Given the description of an element on the screen output the (x, y) to click on. 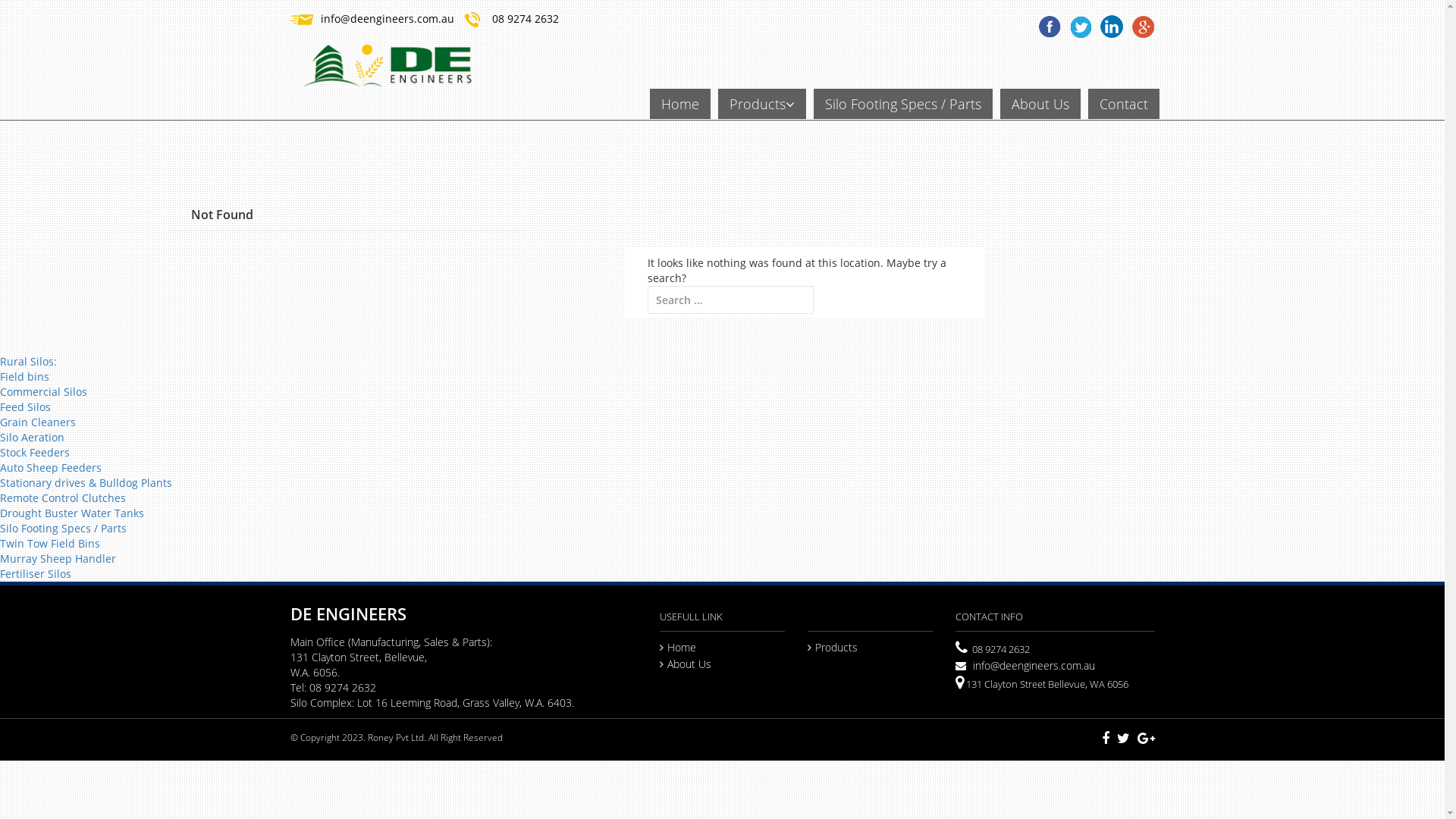
Drought Buster Water Tanks Element type: text (72, 512)
Silo Footing Specs / Parts Element type: text (63, 527)
Home Element type: text (679, 103)
Murray Sheep Handler Element type: text (58, 558)
Rural Silos: Element type: text (28, 361)
Commercial Silos Element type: text (43, 391)
Home Element type: text (677, 647)
info@deengineers.com.au Element type: text (1025, 665)
Contact Element type: text (1122, 103)
Search Element type: text (40, 14)
Silo Footing Specs / Parts Element type: text (901, 103)
Remote Control Clutches Element type: text (62, 497)
Feed Silos Element type: text (25, 406)
About Us Element type: text (685, 663)
Twin Tow Field Bins Element type: text (50, 543)
info@deengineers.com.au Element type: text (386, 18)
Auto Sheep Feeders Element type: text (50, 467)
Field bins Element type: text (24, 376)
Fertiliser Silos Element type: text (35, 573)
Stationary drives & Bulldog Plants Element type: text (86, 482)
Grain Cleaners Element type: text (37, 421)
About Us Element type: text (1039, 103)
Stock Feeders Element type: text (34, 452)
Silo Aeration Element type: text (32, 436)
Products Element type: text (832, 647)
Products Element type: text (761, 103)
